Given the description of an element on the screen output the (x, y) to click on. 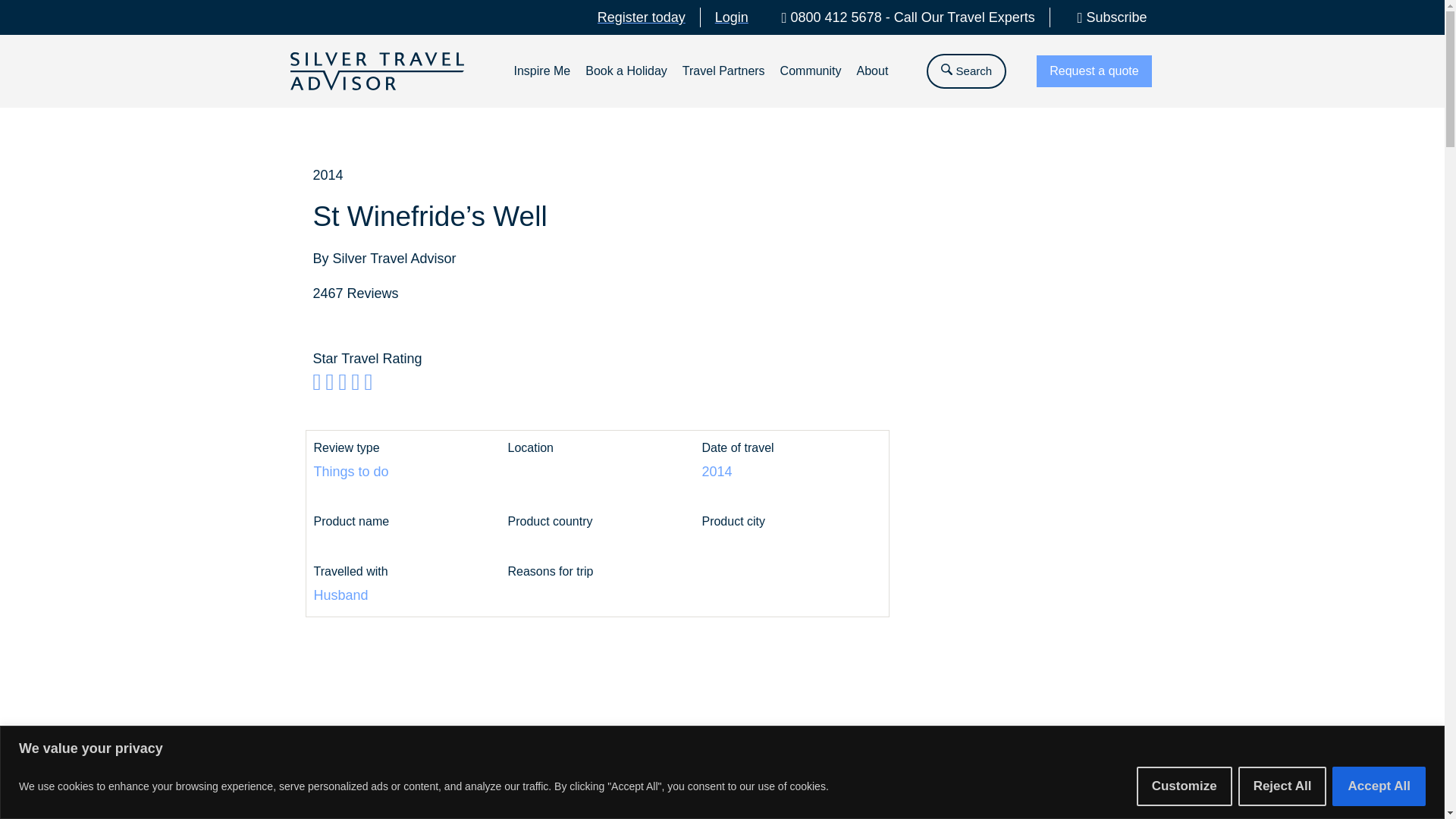
Subscribe (1105, 17)
Inspire Me (541, 71)
Customize (1184, 785)
0800 412 5678 - Call Our Travel Experts (901, 17)
Accept All (1378, 785)
Register today (640, 17)
Reject All (1282, 785)
Login (731, 17)
